Given the description of an element on the screen output the (x, y) to click on. 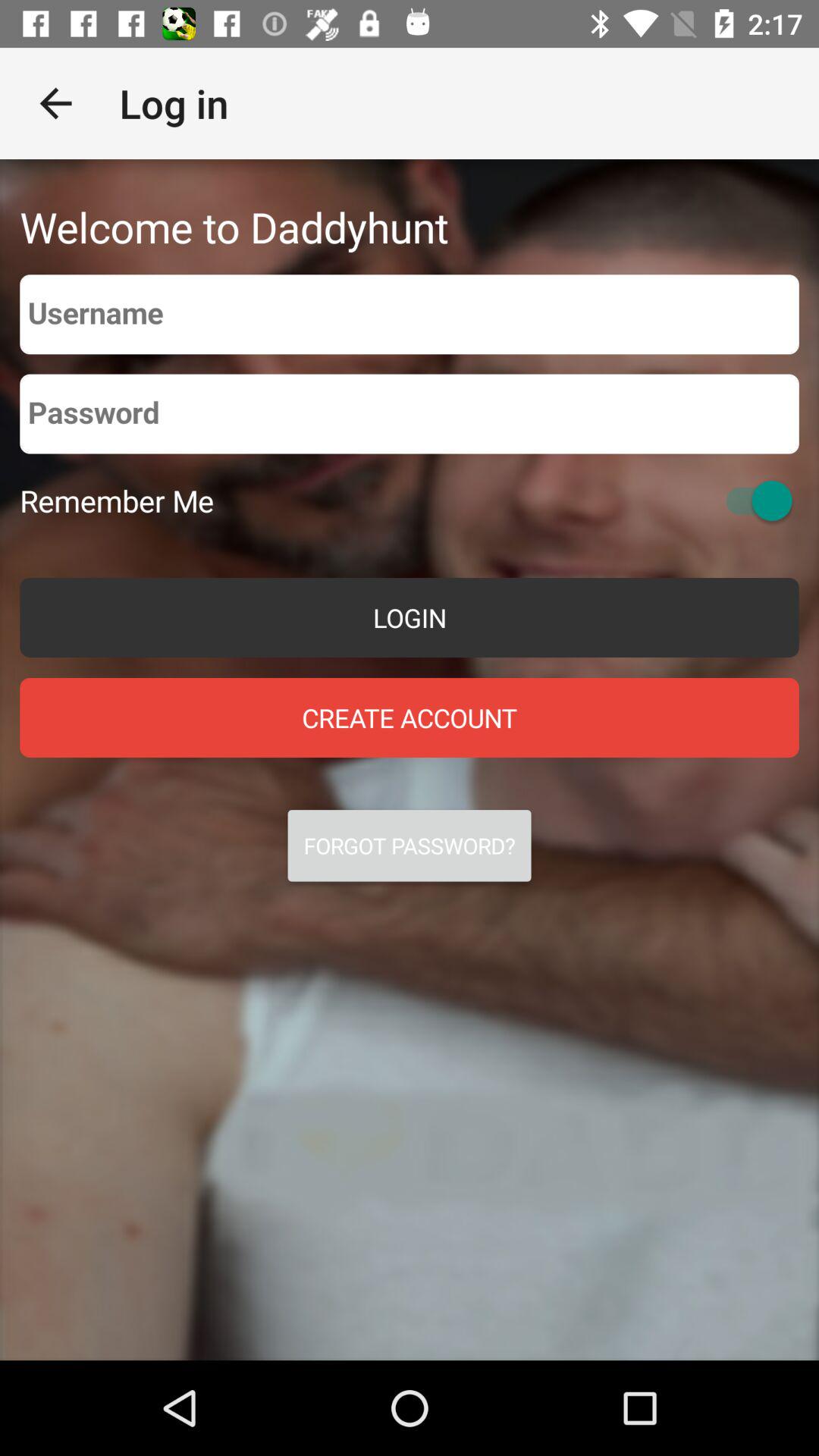
press forgot password? item (409, 845)
